Given the description of an element on the screen output the (x, y) to click on. 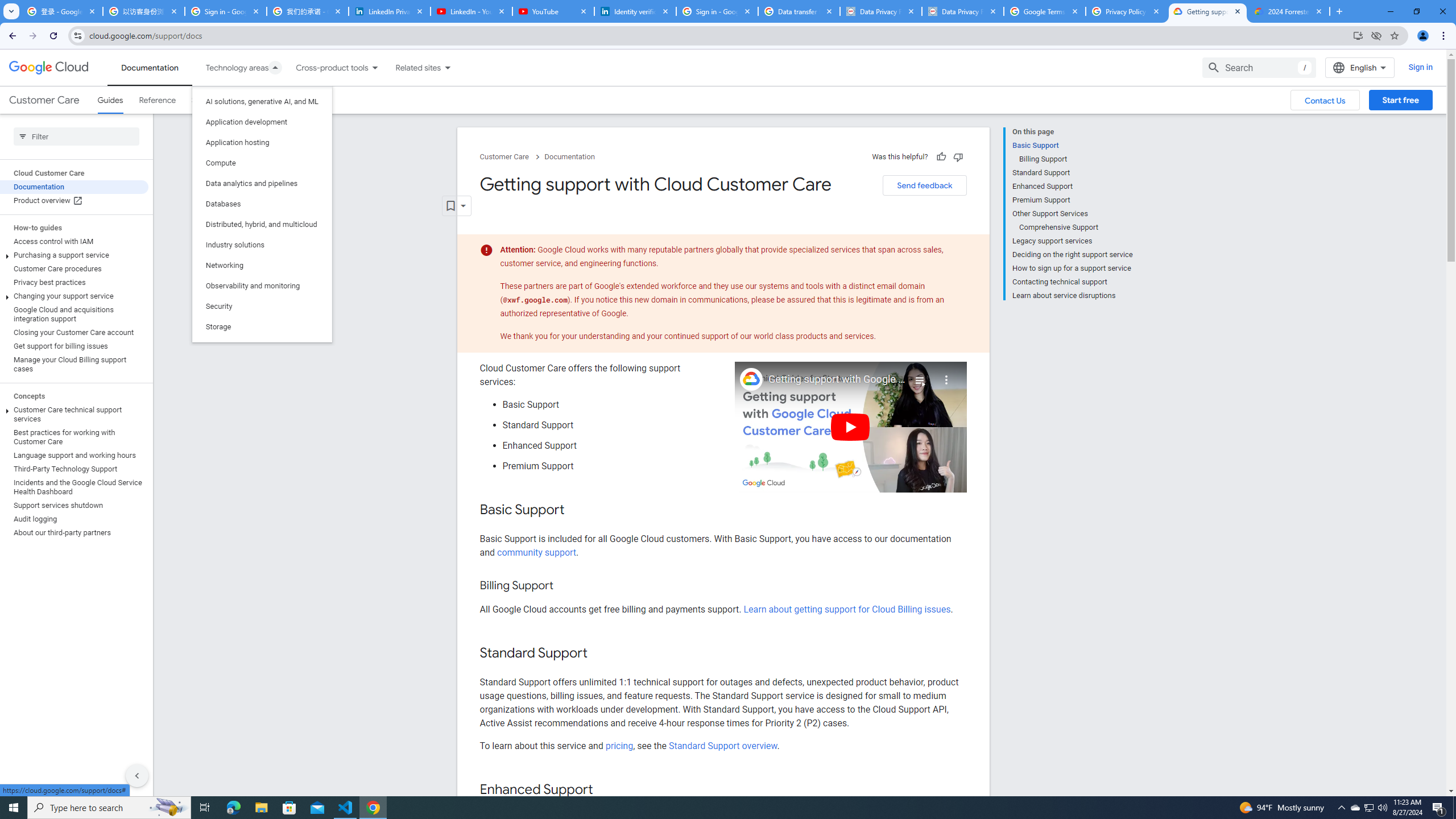
Other Support Services (1071, 213)
Purchasing a support service (74, 255)
Standard Support overview (722, 745)
YouTube (552, 11)
Guides, selected (109, 99)
Product overview (74, 200)
LinkedIn Privacy Policy (389, 11)
Audit logging (74, 518)
Dropdown menu for Related sites (447, 67)
